Given the description of an element on the screen output the (x, y) to click on. 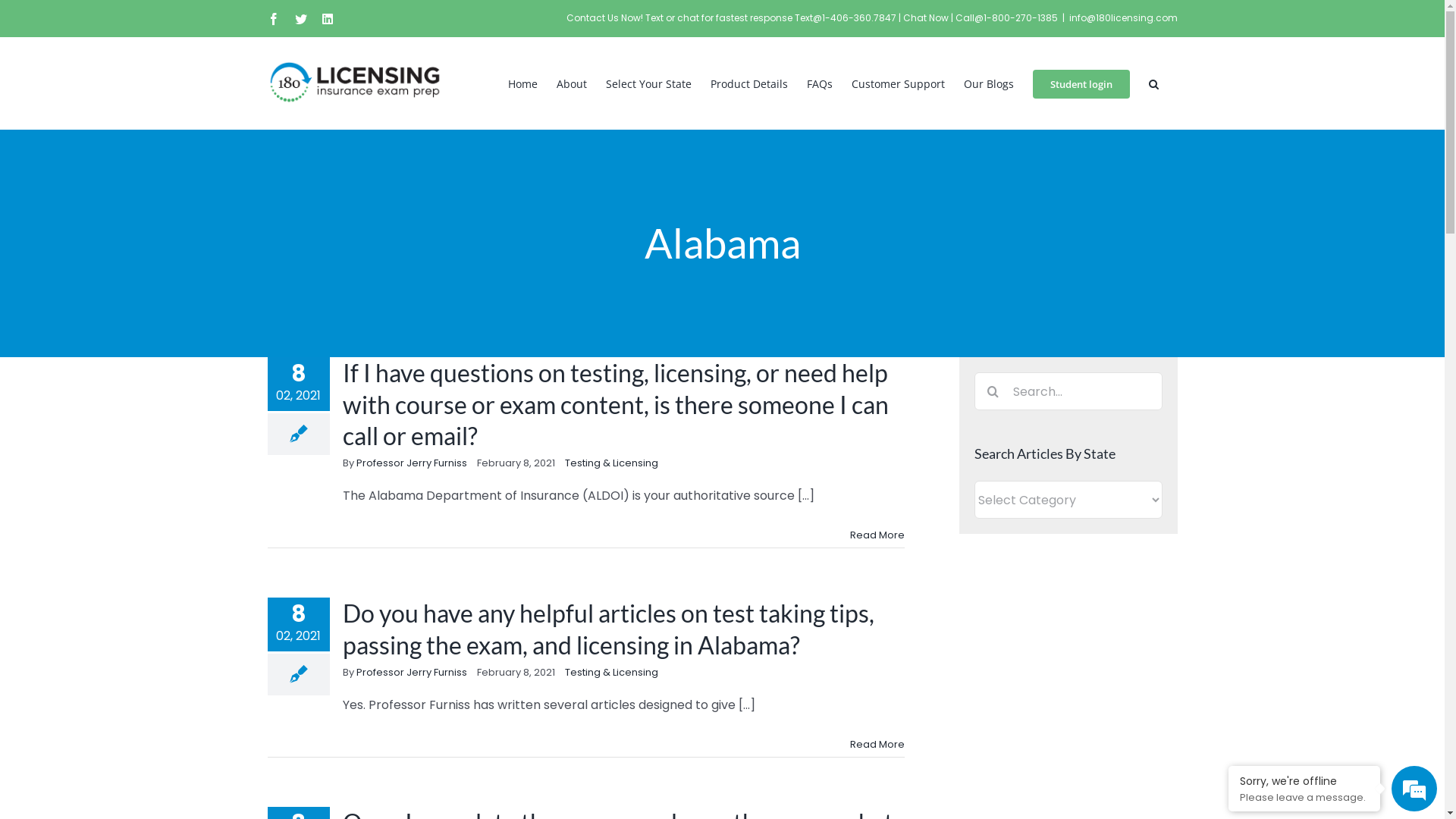
Read More Element type: text (876, 744)
Testing & Licensing Element type: text (610, 672)
LinkedIn Element type: text (326, 18)
Testing & Licensing Element type: text (610, 462)
Professor Jerry Furniss Element type: text (411, 462)
Home Element type: text (522, 82)
Search Element type: hover (1152, 82)
FAQs Element type: text (819, 82)
Student login Element type: text (1080, 82)
Our Blogs Element type: text (988, 82)
About Element type: text (571, 82)
Customer Support Element type: text (897, 82)
Call@1-800-270-1385 Element type: text (1006, 17)
Facebook Element type: text (272, 18)
Text@1-406-360.7847 Element type: text (846, 17)
Read More Element type: text (876, 534)
Product Details Element type: text (748, 82)
Chat Now Element type: text (926, 17)
info@180licensing.com Element type: text (1123, 17)
Select Your State Element type: text (647, 82)
Twitter Element type: text (300, 18)
Professor Jerry Furniss Element type: text (411, 672)
